Given the description of an element on the screen output the (x, y) to click on. 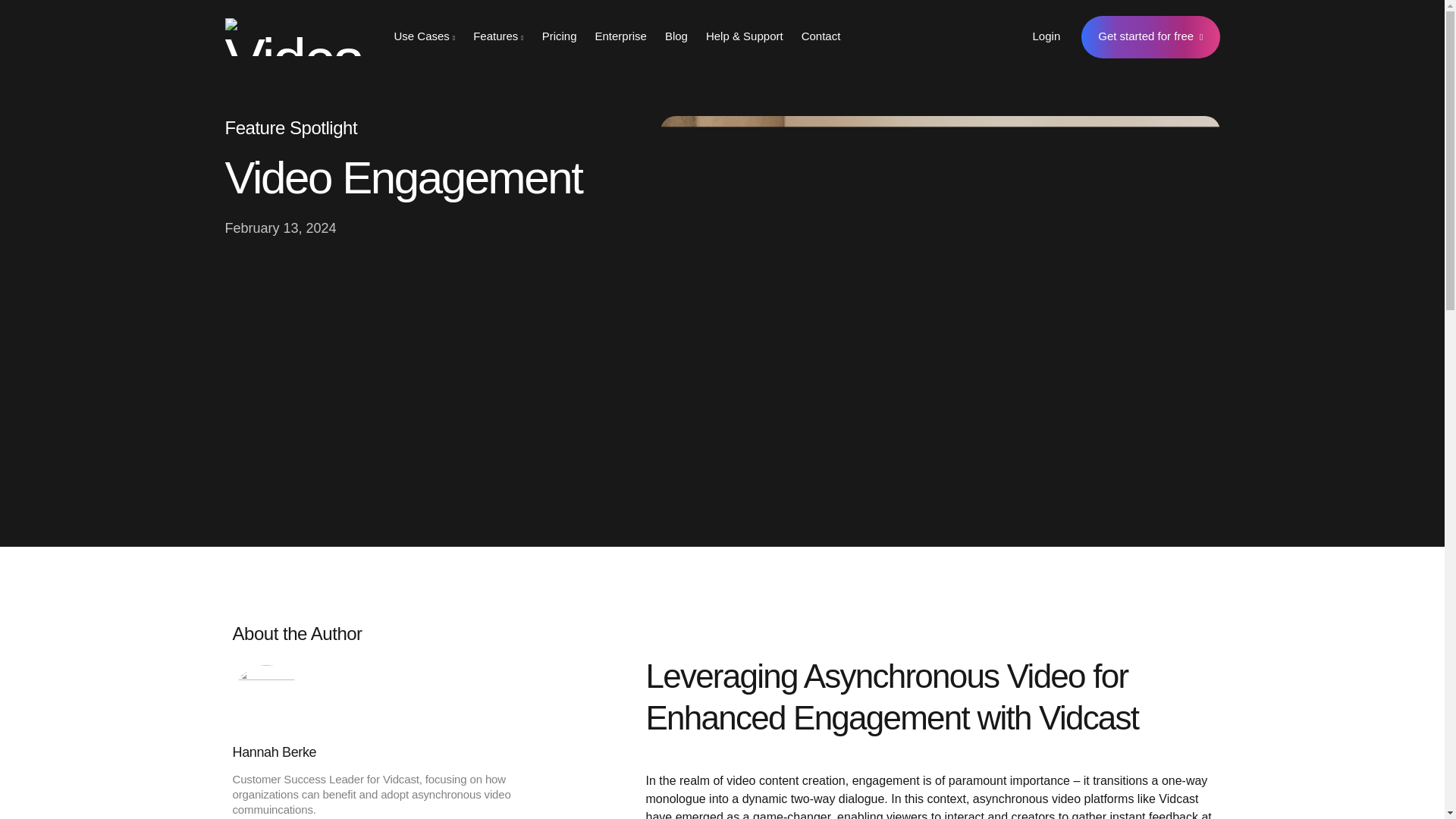
Login (1046, 36)
Use Cases (424, 36)
Blog (676, 36)
Feature Spotlight (290, 127)
Pricing (559, 36)
Enterprise (621, 36)
Features (498, 36)
Get started for free (1150, 36)
Contact (821, 36)
